Given the description of an element on the screen output the (x, y) to click on. 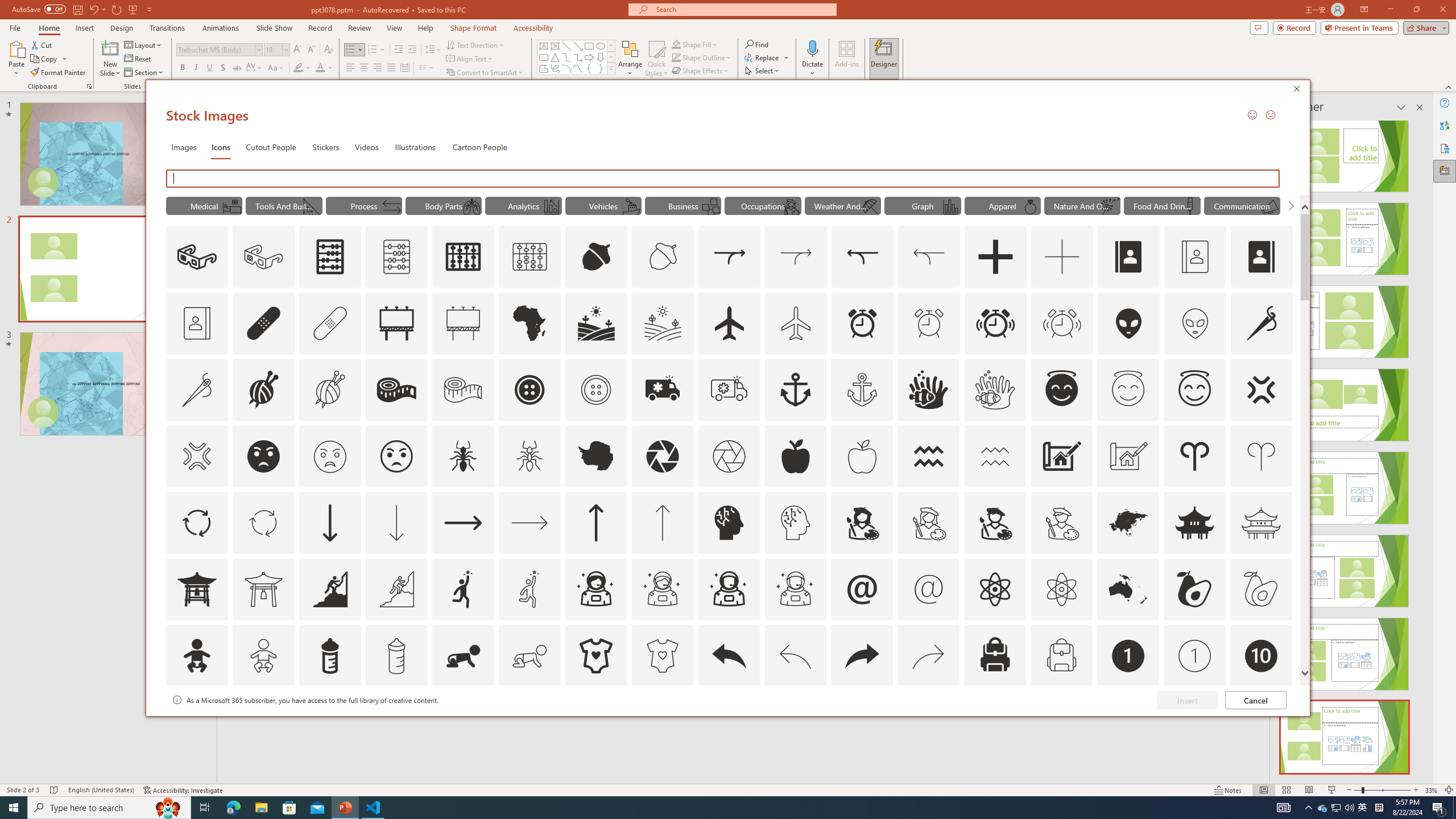
AutomationID: Icons_Abacus (330, 256)
AutomationID: Icons_Backpack (995, 655)
AutomationID: Icons_Baby_M (263, 655)
AutomationID: Icons_AsianTemple1 (196, 588)
AutomationID: Icons_Aquarius (928, 455)
AutomationID: Icons_Aspiration_M (395, 588)
AutomationID: Icons_Badge2_M (329, 721)
